Given the description of an element on the screen output the (x, y) to click on. 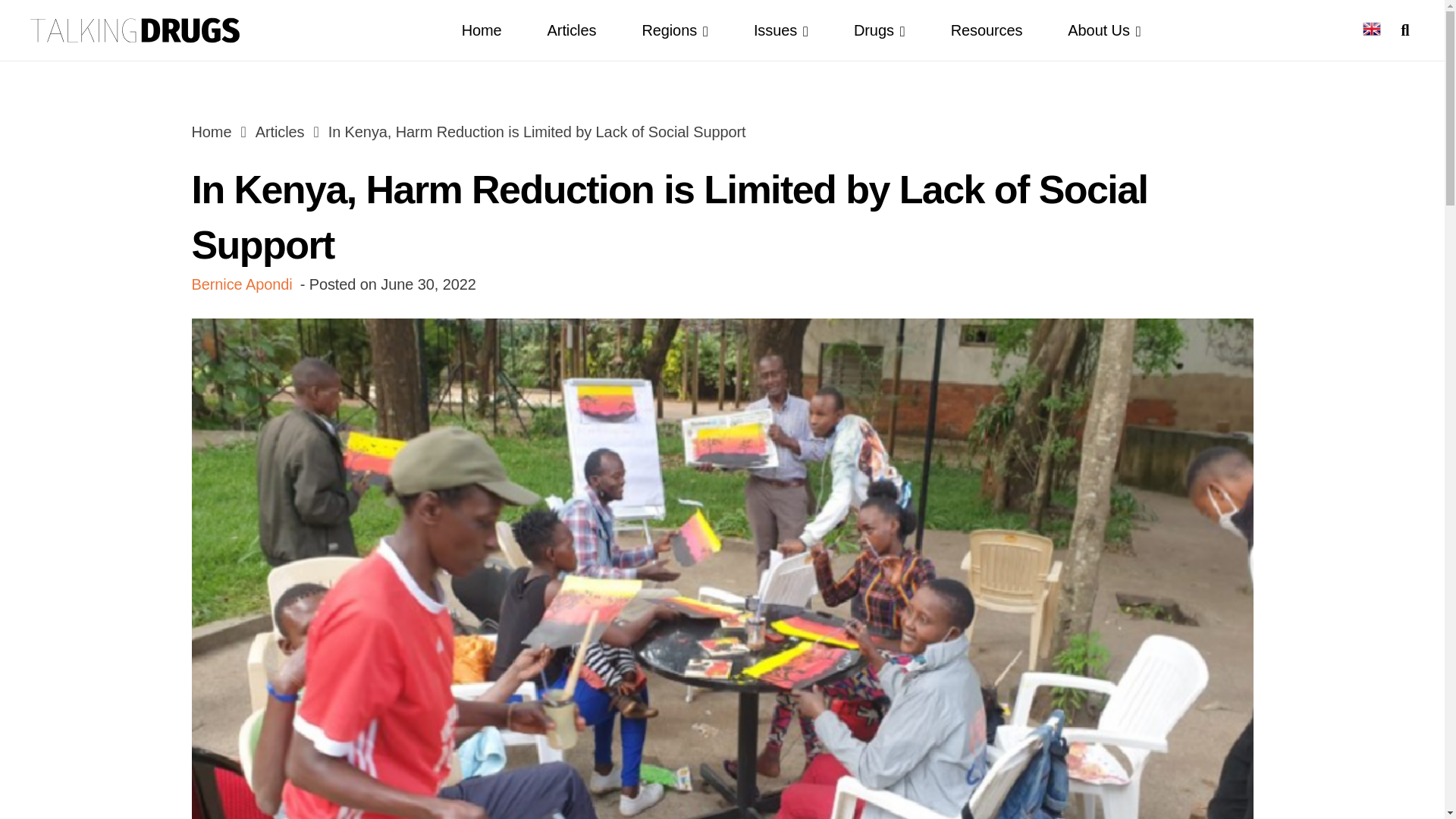
Articles (572, 30)
Drugs (879, 30)
Issues (780, 30)
Resources (986, 30)
Posts by Bernice Apondi (241, 284)
Home (481, 30)
About Us (1104, 30)
Home (210, 131)
Regions (674, 30)
